Given the description of an element on the screen output the (x, y) to click on. 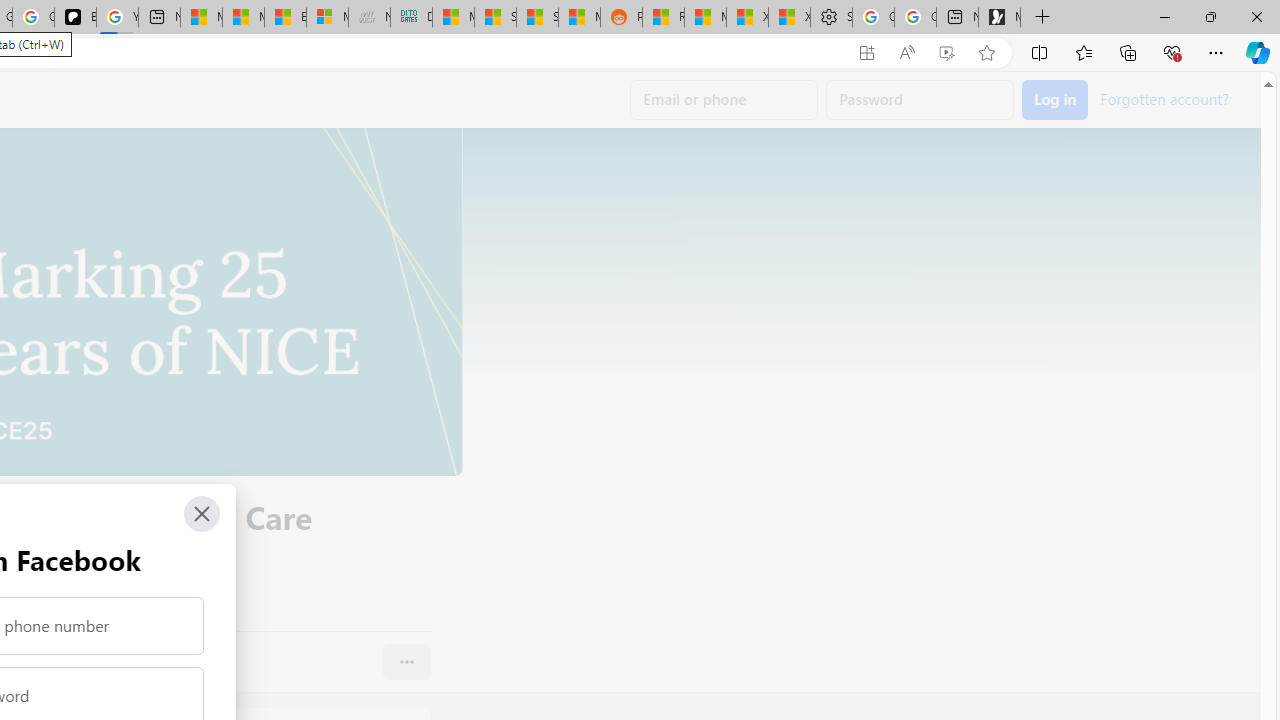
Password (920, 99)
Microsoft Start Gaming (999, 17)
Forgotten account? (1163, 97)
